Given the description of an element on the screen output the (x, y) to click on. 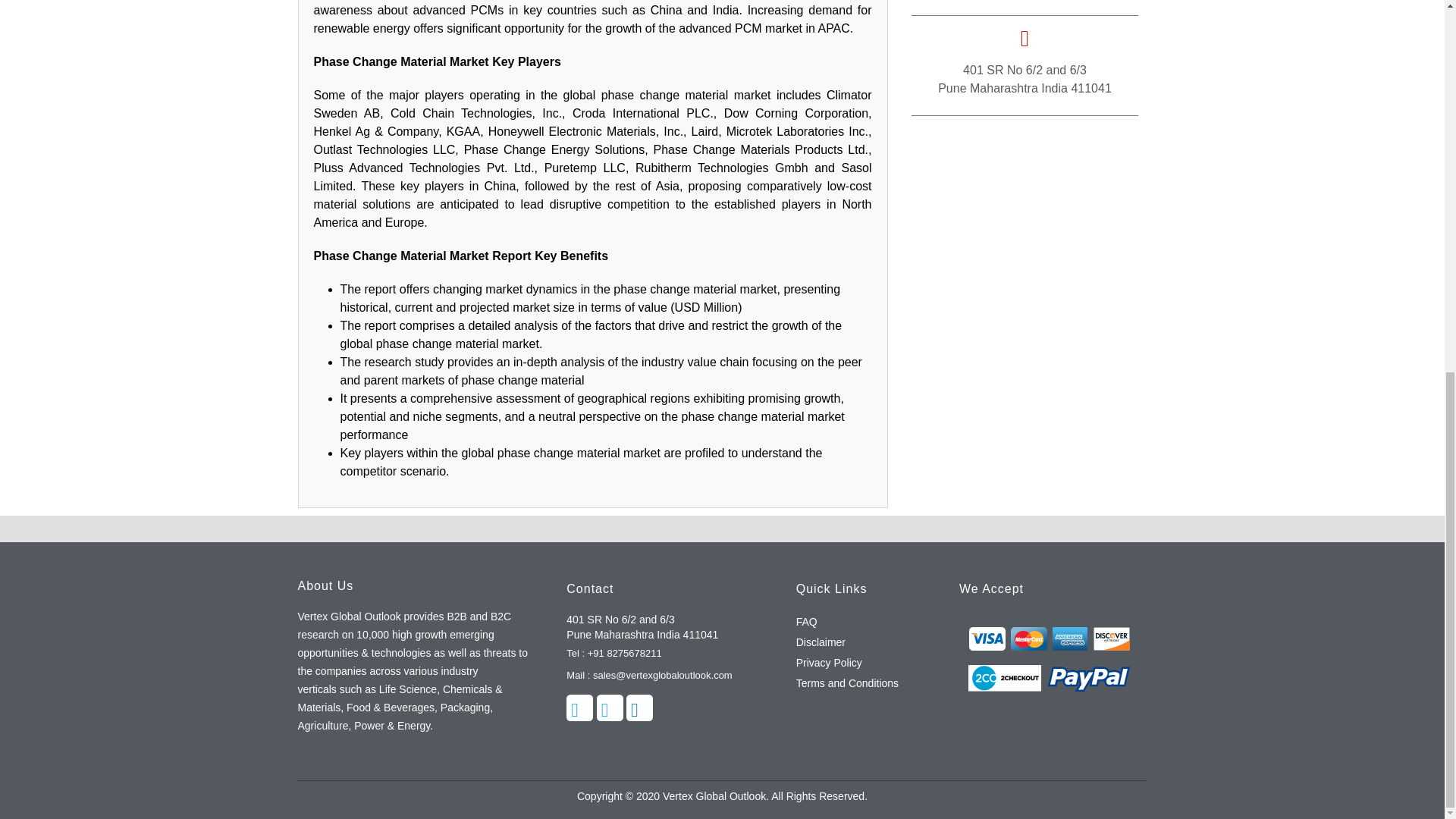
Privacy Policy (828, 662)
Disclaimer (820, 642)
FAQ (806, 621)
Terms and Conditions (847, 683)
